Given the description of an element on the screen output the (x, y) to click on. 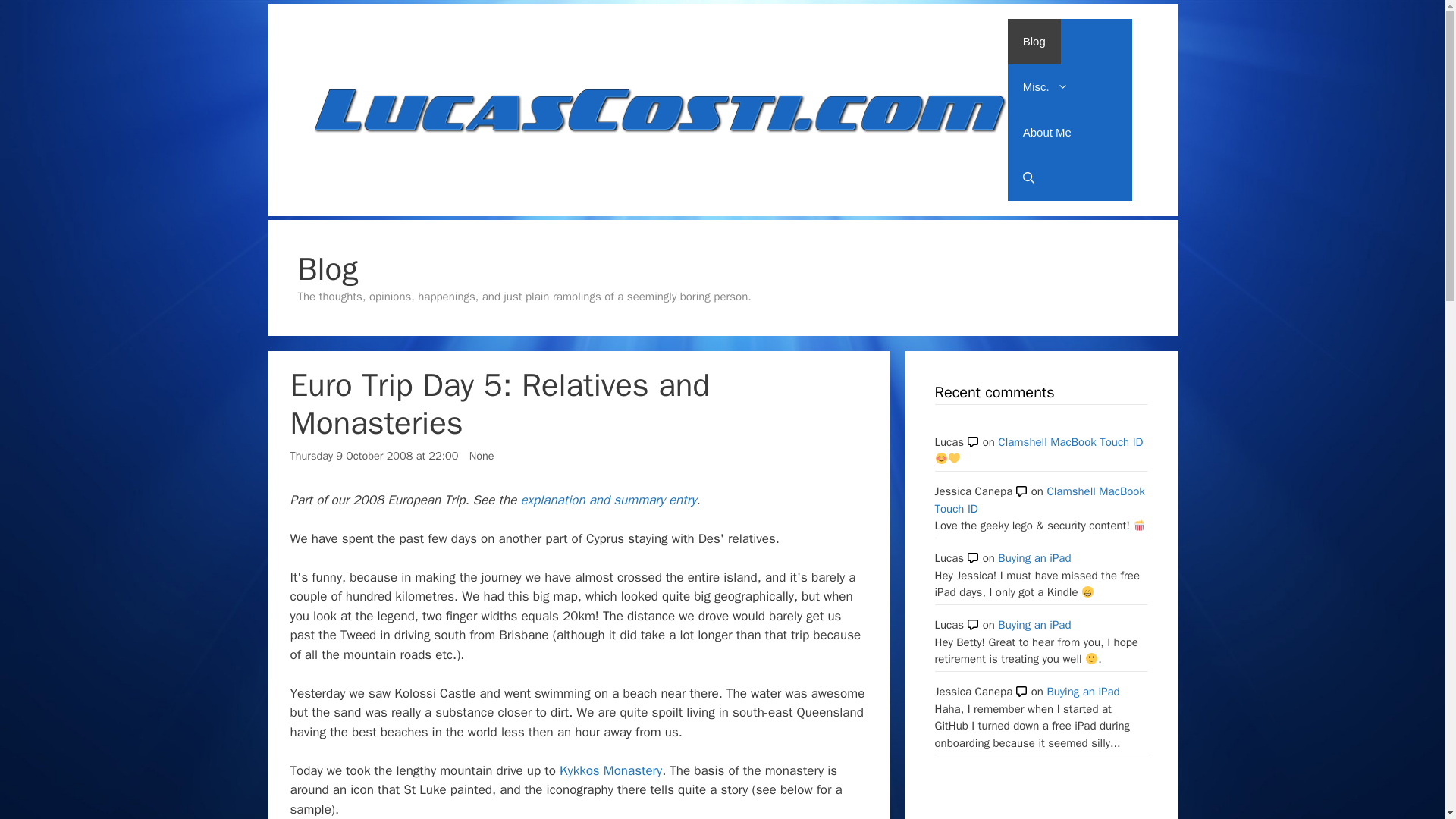
Thursday 9 October 2008 at 22:00 (373, 455)
Clamshell MacBook Touch ID (1039, 499)
Clamshell MacBook Touch ID (1069, 441)
22:00 (373, 455)
Buying an iPad (1082, 691)
Blog (1034, 41)
Kykkos Monastery (610, 770)
None (481, 455)
Buying an iPad (1033, 558)
About Me (1046, 132)
explanation and summary entry (607, 499)
Buying an iPad (1033, 624)
Misc. (1045, 86)
